Given the description of an element on the screen output the (x, y) to click on. 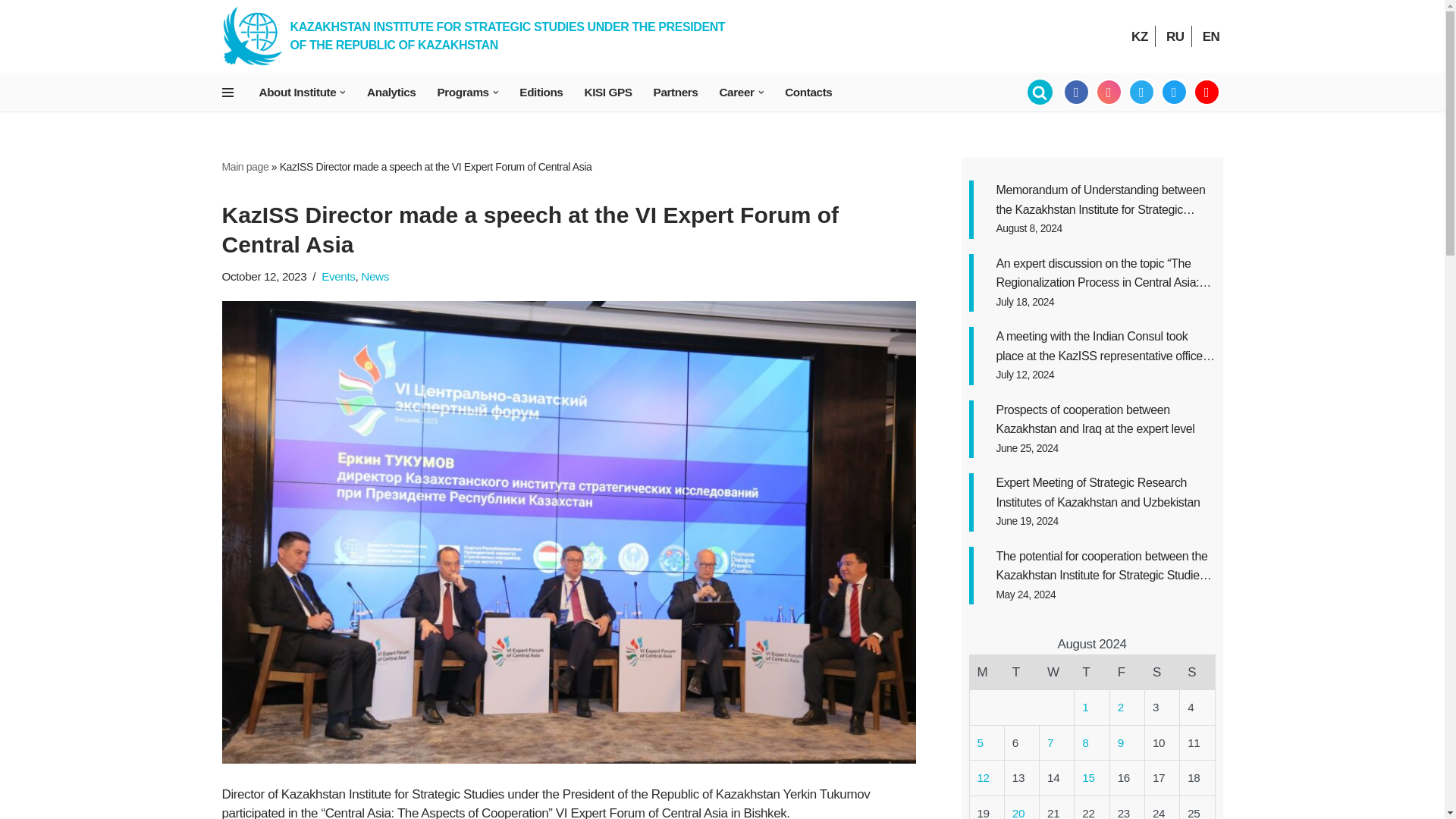
Friday (1126, 672)
Partners (675, 91)
Thursday (1091, 672)
Contacts (807, 91)
Wednesday (1056, 672)
About Institute (297, 91)
Tuesday (1021, 672)
Analytics (390, 91)
Editions (540, 91)
